Given the description of an element on the screen output the (x, y) to click on. 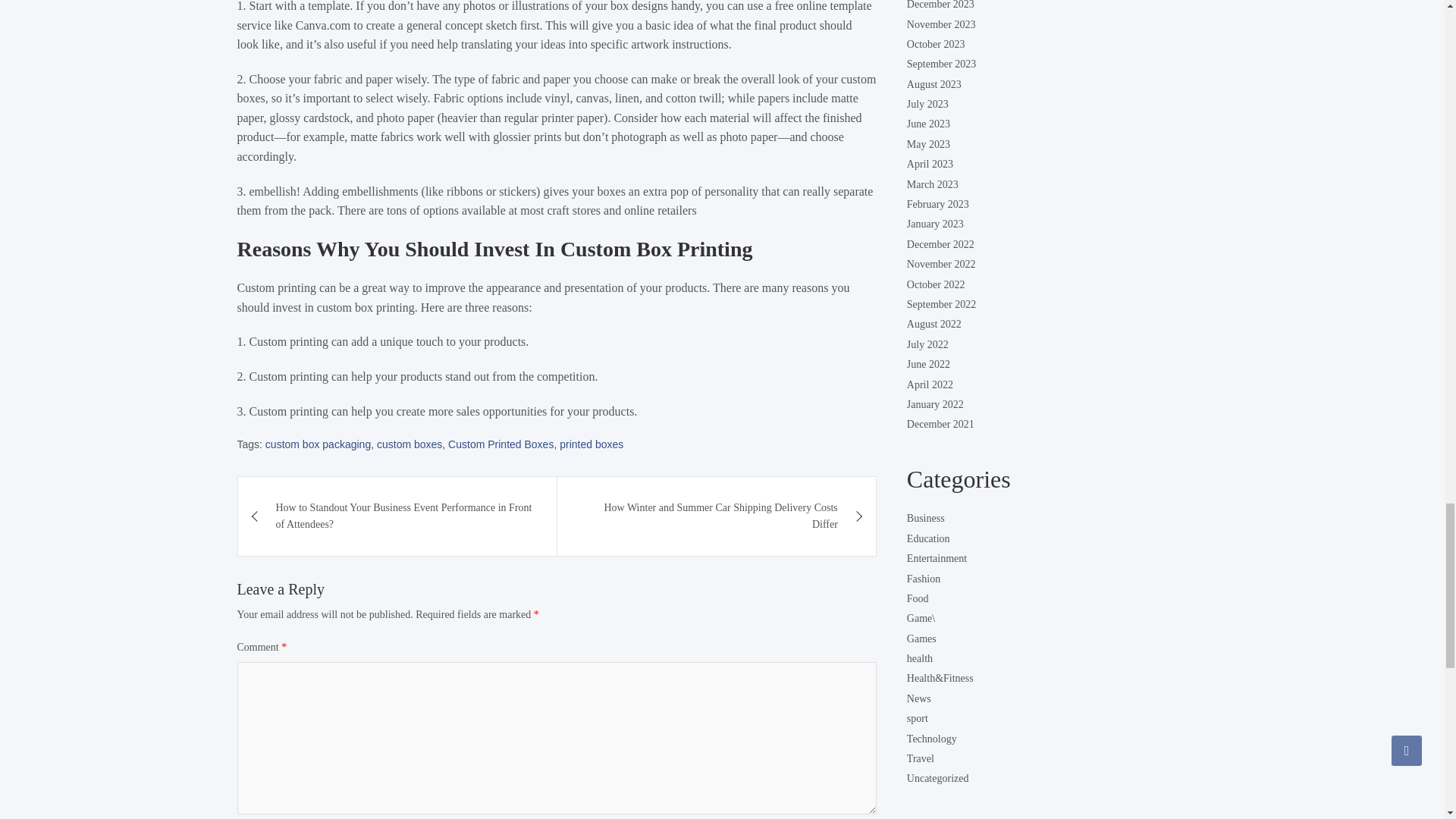
Custom Printed Boxes (500, 443)
How Winter and Summer Car Shipping Delivery Costs Differ (716, 516)
printed boxes (591, 443)
custom boxes (409, 443)
custom box packaging (317, 443)
